Given the description of an element on the screen output the (x, y) to click on. 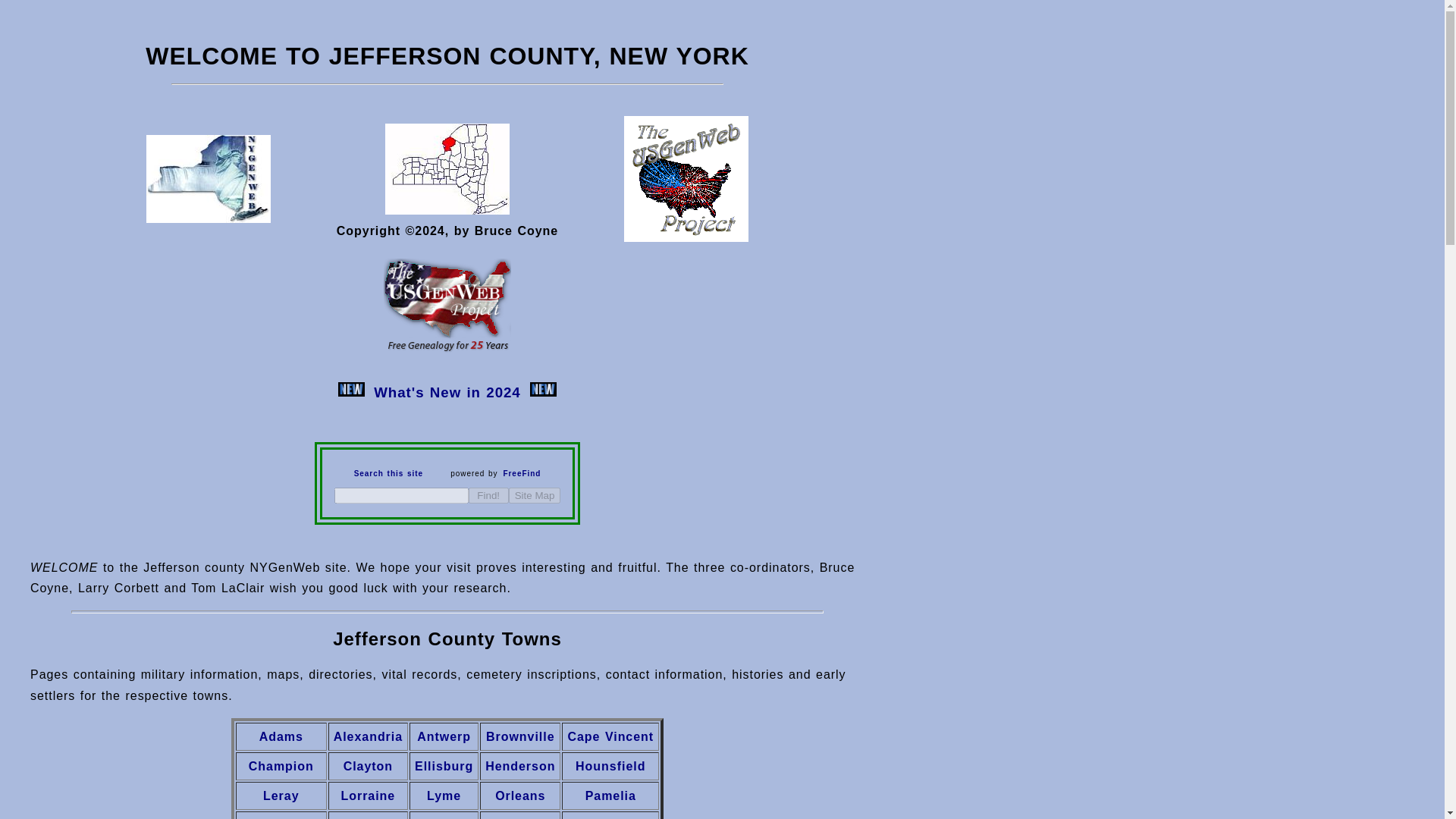
Leray (281, 795)
Site Map (534, 495)
Ellisburg (443, 765)
Cape Vincent (610, 736)
Lorraine (368, 795)
Watertown (610, 818)
Rutland (443, 818)
Orleans (520, 795)
Search this site (388, 473)
Philadelphia (281, 818)
Adams (280, 736)
Hounsfield (609, 765)
Pamelia (610, 795)
Visit (686, 237)
Champion (281, 765)
